Given the description of an element on the screen output the (x, y) to click on. 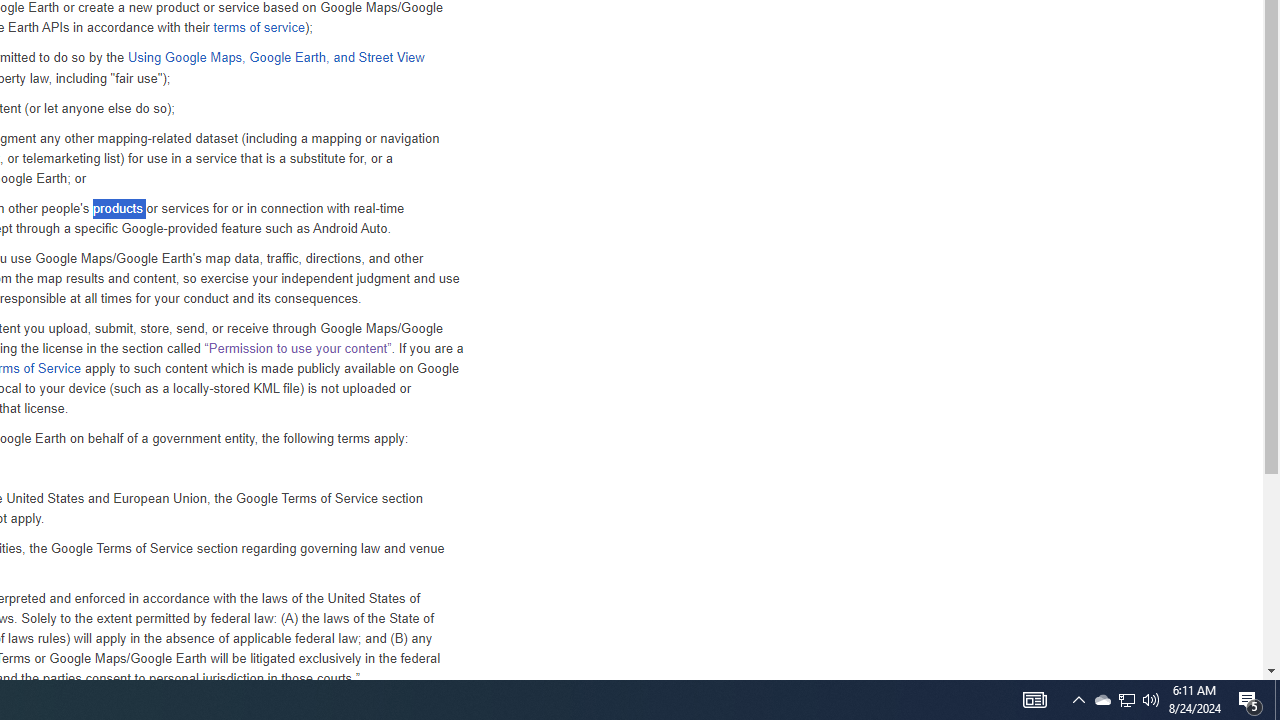
Using Google Maps, Google Earth, and Street View (275, 57)
terms of service (258, 28)
